Given the description of an element on the screen output the (x, y) to click on. 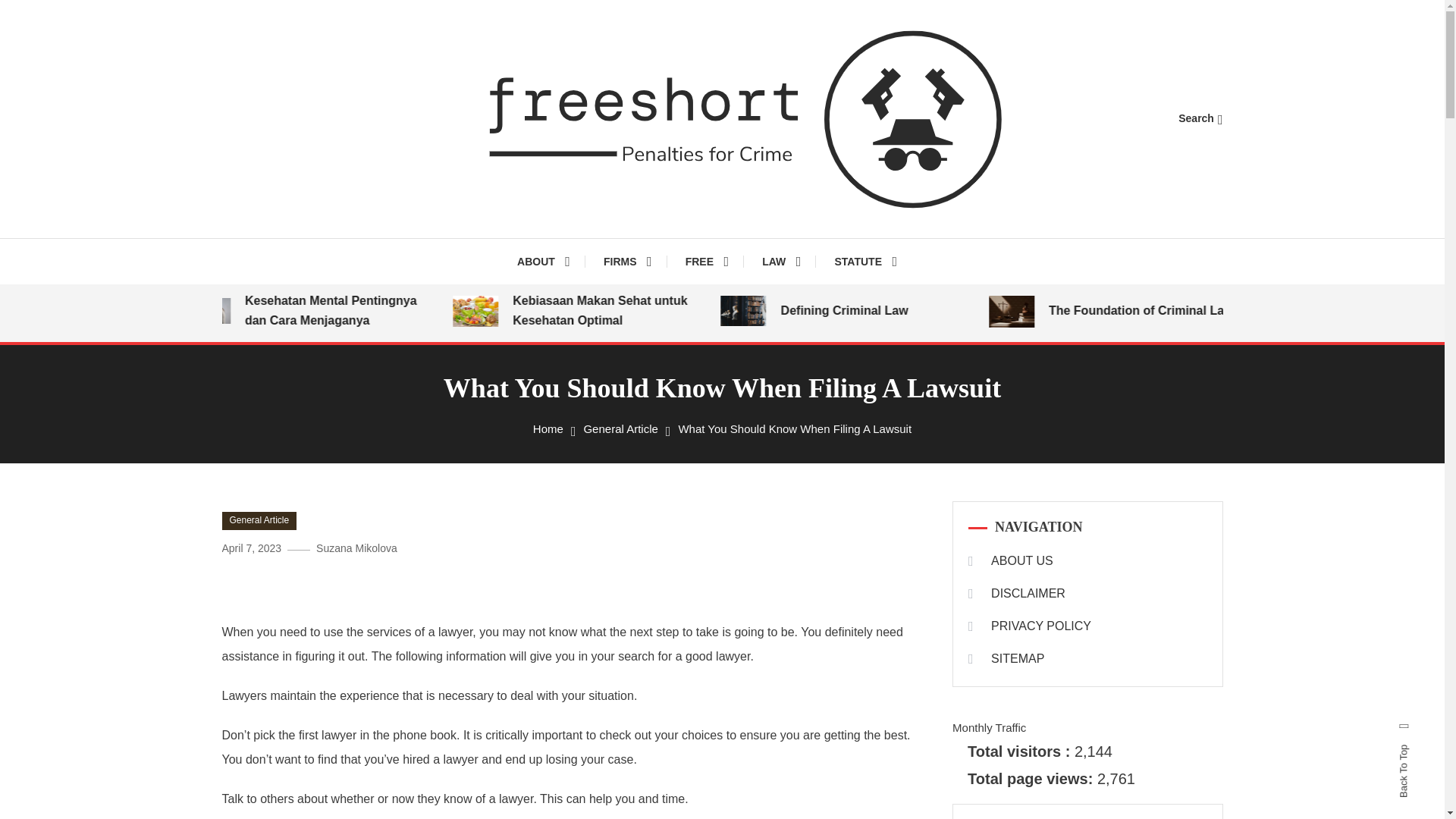
Search (768, 434)
ABOUT (550, 261)
STATUTE (864, 261)
FREESHORT (551, 254)
Search (1200, 118)
LAW (780, 261)
FIRMS (627, 261)
Skip To Content (40, 10)
FREE (706, 261)
